Given the description of an element on the screen output the (x, y) to click on. 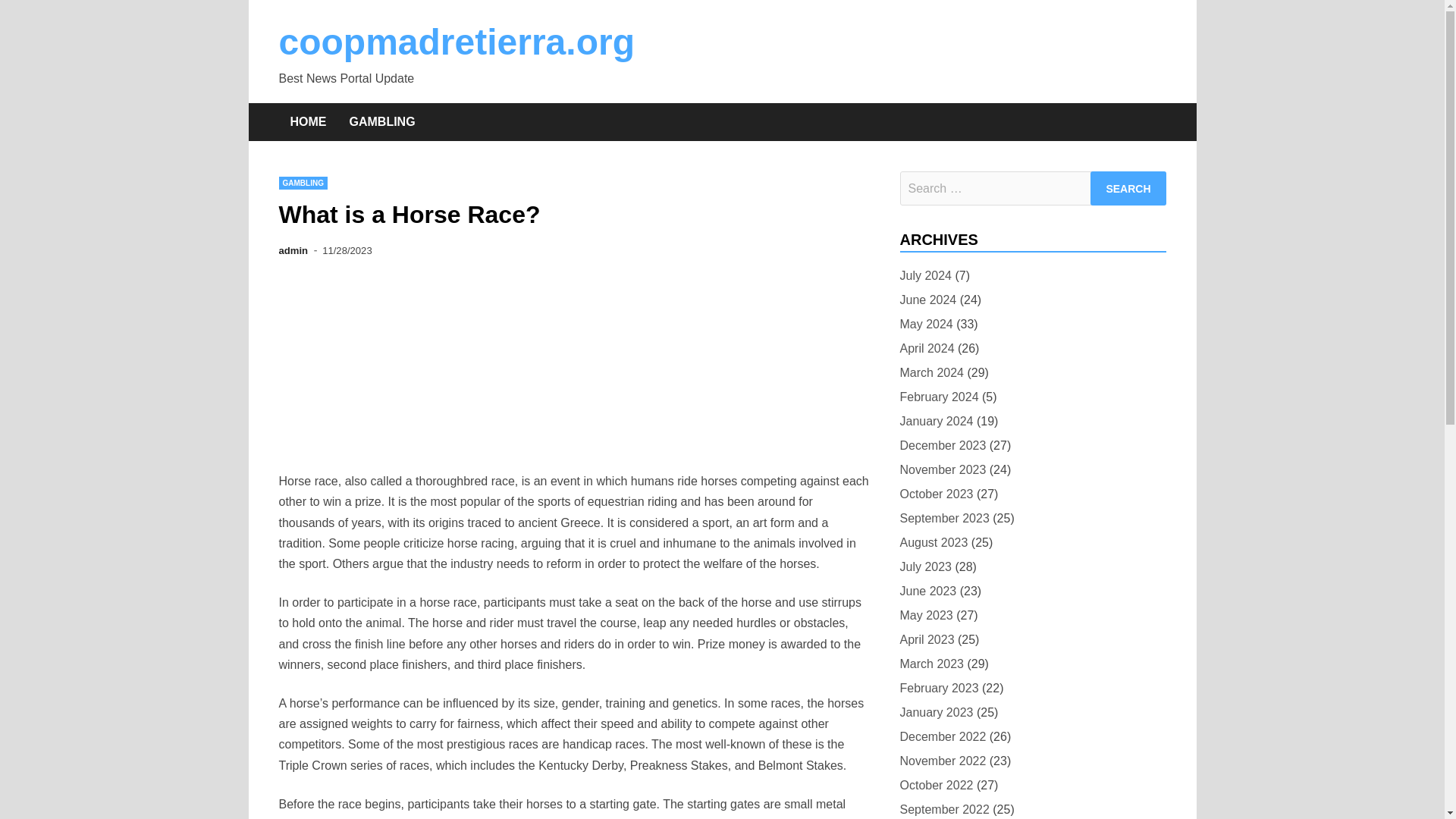
April 2024 (926, 348)
September 2023 (943, 517)
July 2024 (925, 275)
Search (1128, 188)
GAMBLING (303, 182)
December 2022 (942, 736)
May 2024 (925, 323)
March 2023 (931, 663)
February 2023 (938, 688)
March 2024 (931, 372)
November 2023 (942, 469)
October 2022 (935, 784)
GAMBLING (381, 121)
January 2023 (935, 711)
August 2023 (933, 542)
